Given the description of an element on the screen output the (x, y) to click on. 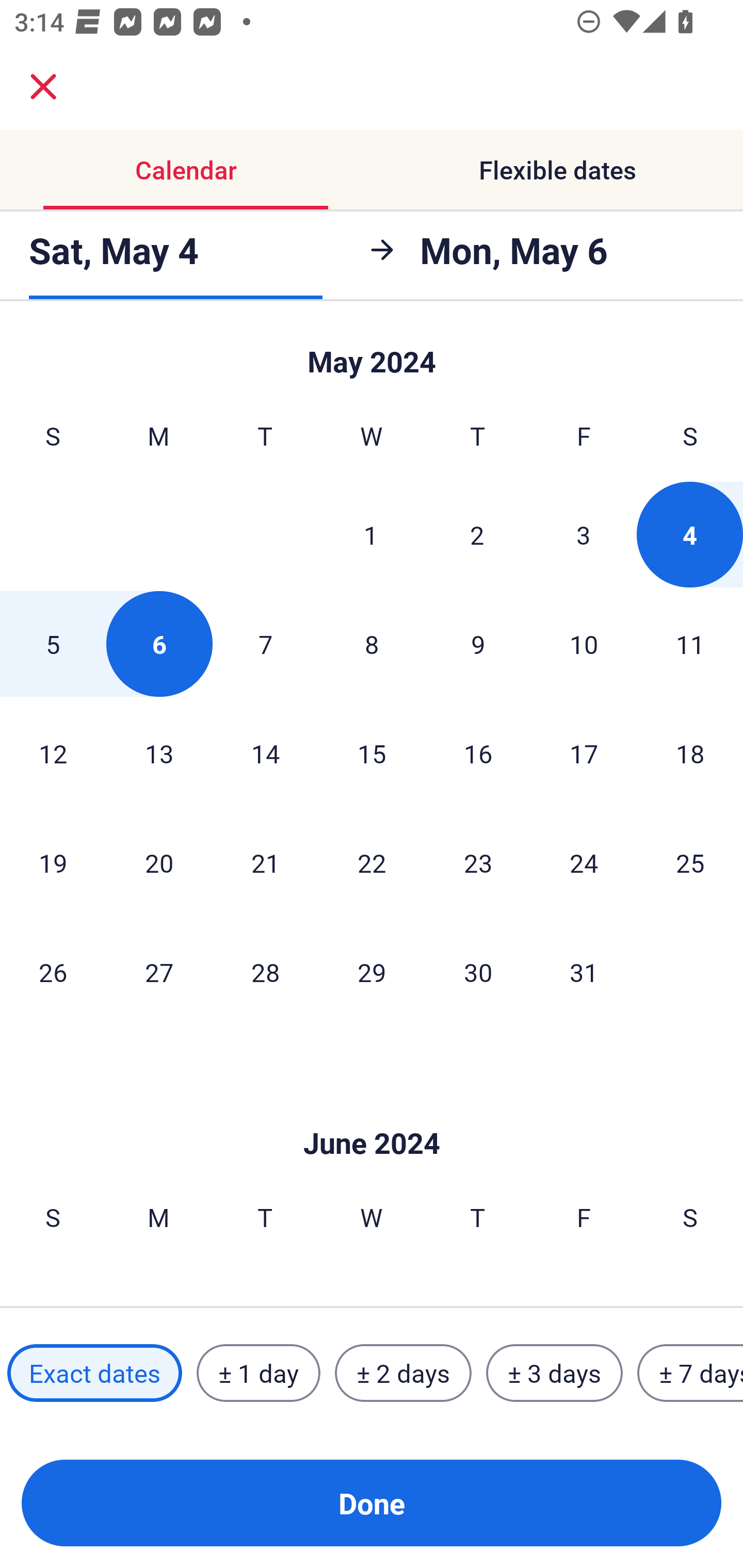
close. (43, 86)
Flexible dates (557, 170)
Skip to Done (371, 352)
1 Wednesday, May 1, 2024 (371, 534)
2 Thursday, May 2, 2024 (477, 534)
3 Friday, May 3, 2024 (583, 534)
7 Tuesday, May 7, 2024 (265, 643)
8 Wednesday, May 8, 2024 (371, 643)
9 Thursday, May 9, 2024 (477, 643)
10 Friday, May 10, 2024 (584, 643)
11 Saturday, May 11, 2024 (690, 643)
12 Sunday, May 12, 2024 (53, 752)
13 Monday, May 13, 2024 (159, 752)
14 Tuesday, May 14, 2024 (265, 752)
15 Wednesday, May 15, 2024 (371, 752)
16 Thursday, May 16, 2024 (477, 752)
17 Friday, May 17, 2024 (584, 752)
18 Saturday, May 18, 2024 (690, 752)
19 Sunday, May 19, 2024 (53, 862)
20 Monday, May 20, 2024 (159, 862)
21 Tuesday, May 21, 2024 (265, 862)
22 Wednesday, May 22, 2024 (371, 862)
23 Thursday, May 23, 2024 (477, 862)
24 Friday, May 24, 2024 (584, 862)
25 Saturday, May 25, 2024 (690, 862)
26 Sunday, May 26, 2024 (53, 971)
27 Monday, May 27, 2024 (159, 971)
28 Tuesday, May 28, 2024 (265, 971)
29 Wednesday, May 29, 2024 (371, 971)
30 Thursday, May 30, 2024 (477, 971)
31 Friday, May 31, 2024 (584, 971)
Skip to Done (371, 1112)
Exact dates (94, 1372)
± 1 day (258, 1372)
± 2 days (403, 1372)
± 3 days (553, 1372)
± 7 days (690, 1372)
Done (371, 1502)
